Given the description of an element on the screen output the (x, y) to click on. 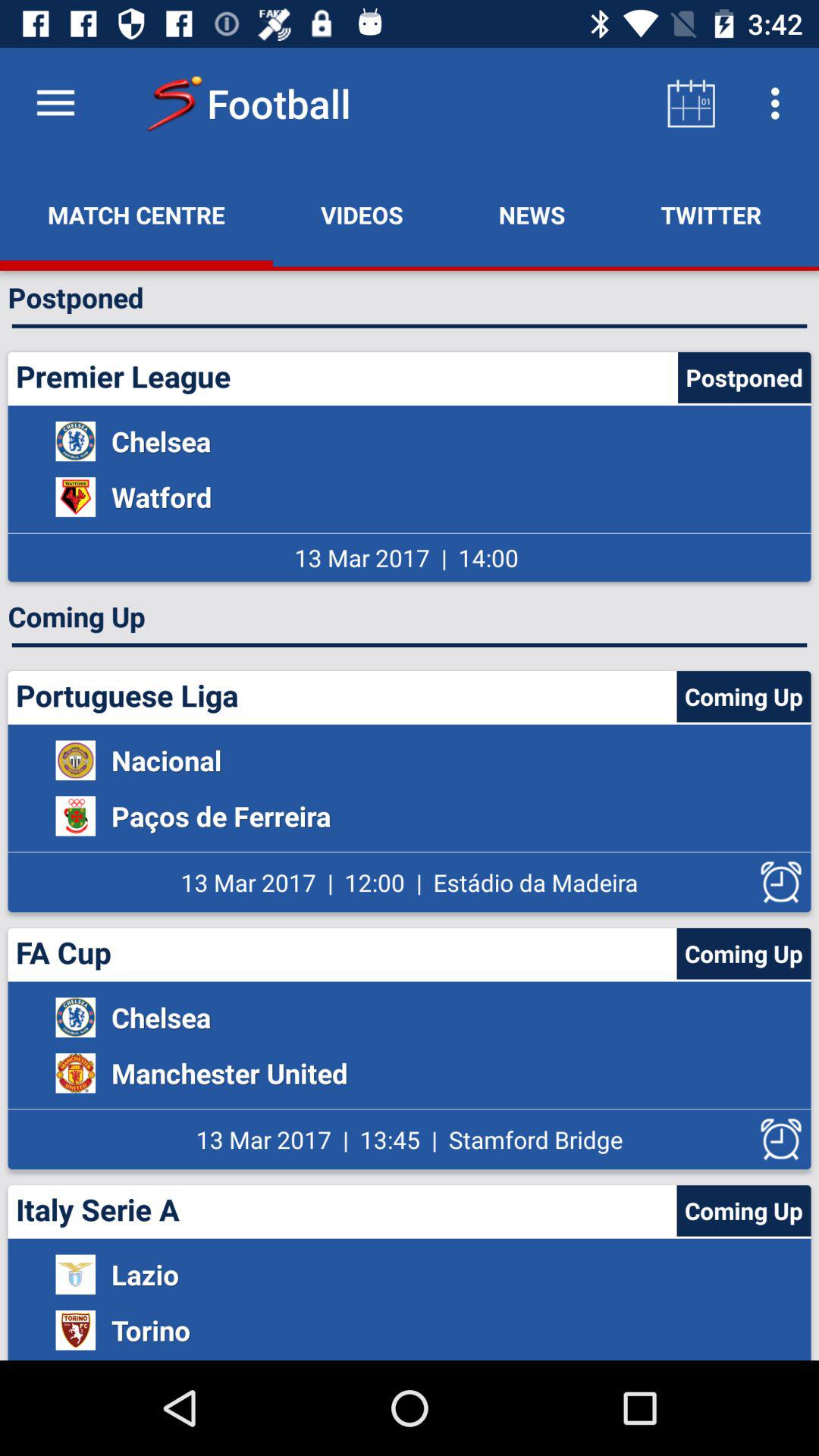
set alarm (781, 882)
